Given the description of an element on the screen output the (x, y) to click on. 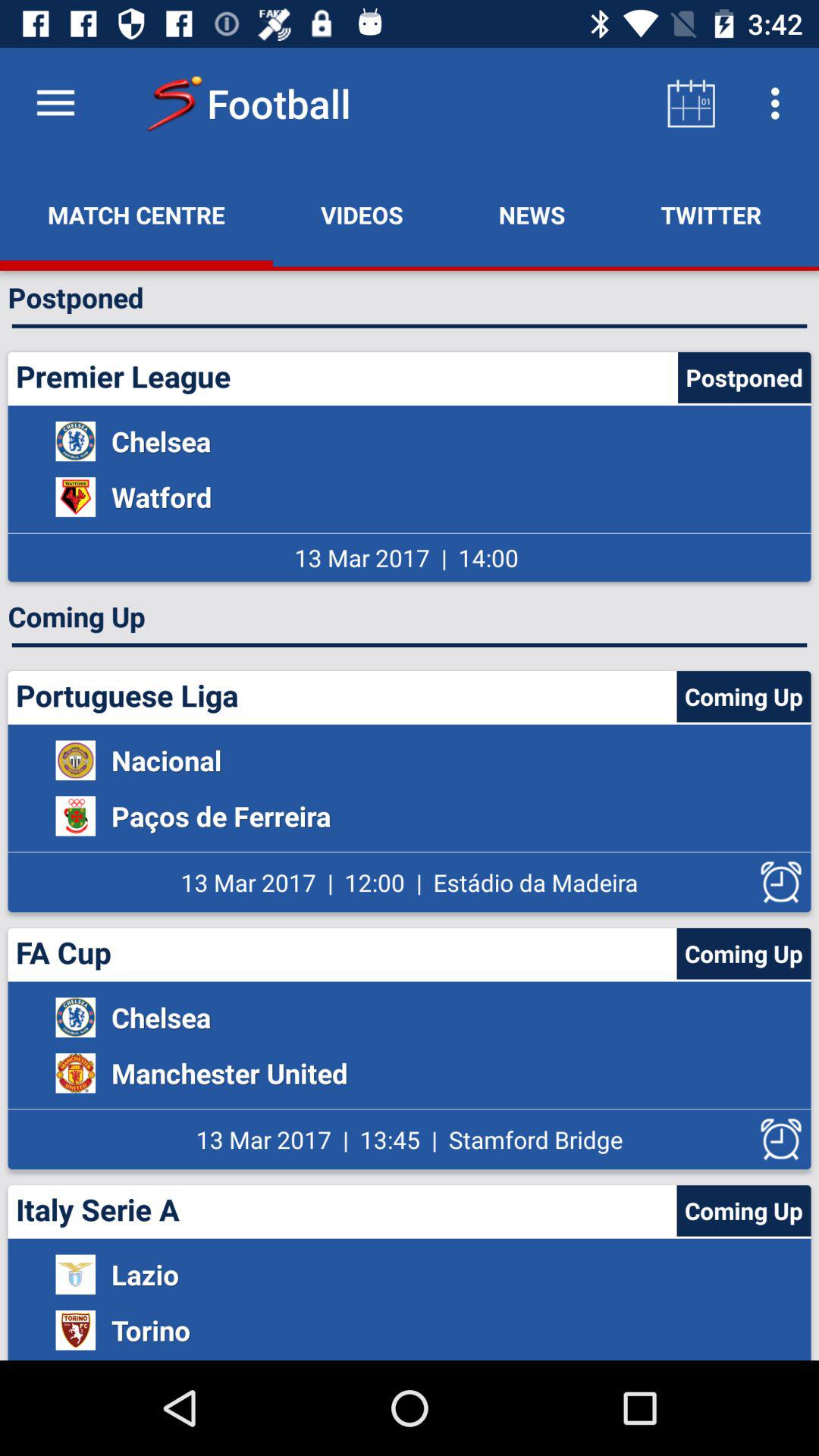
set alarm (781, 882)
